Given the description of an element on the screen output the (x, y) to click on. 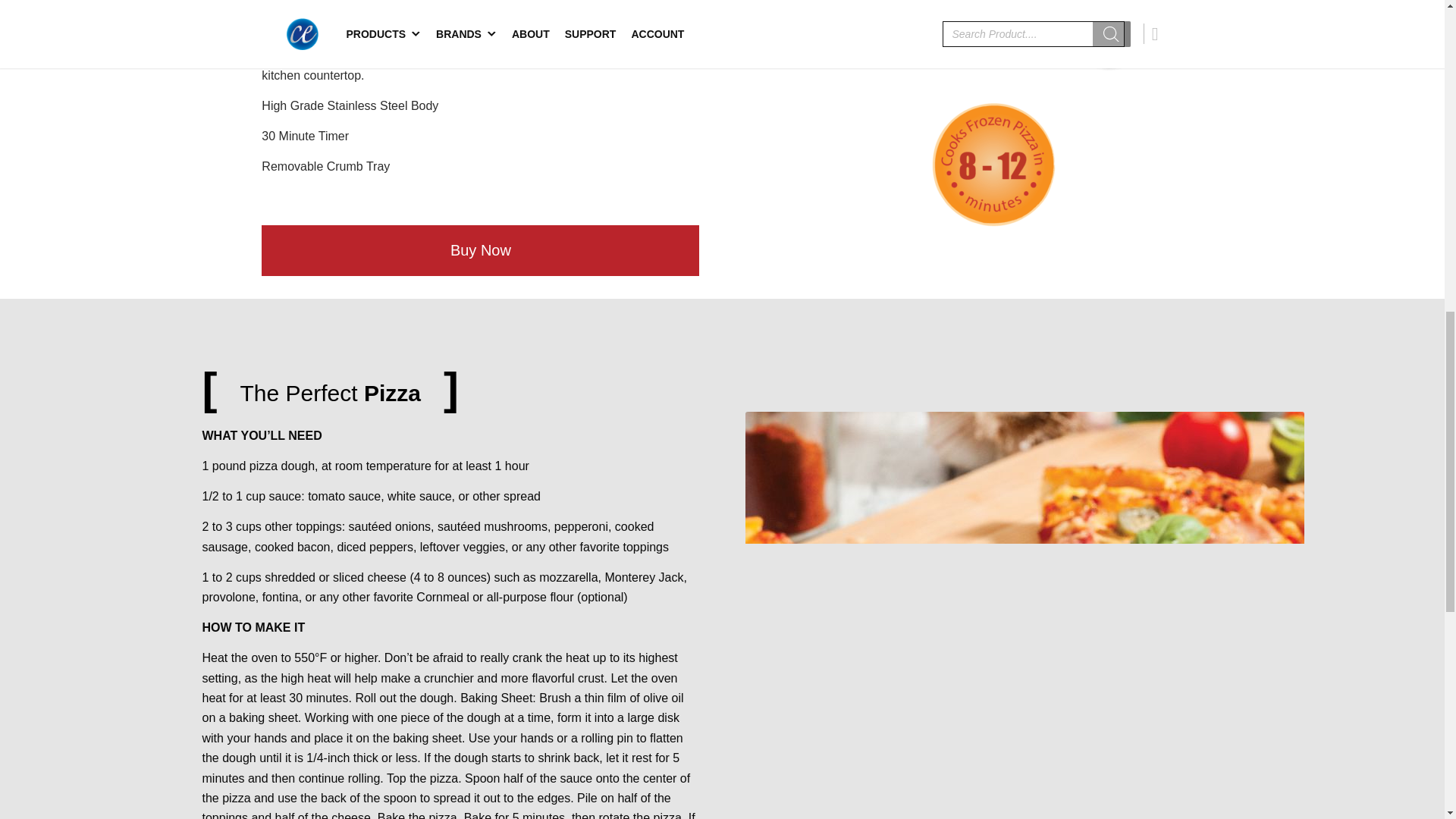
icon-06 (992, 164)
pizza oven-04 (1011, 36)
